Given the description of an element on the screen output the (x, y) to click on. 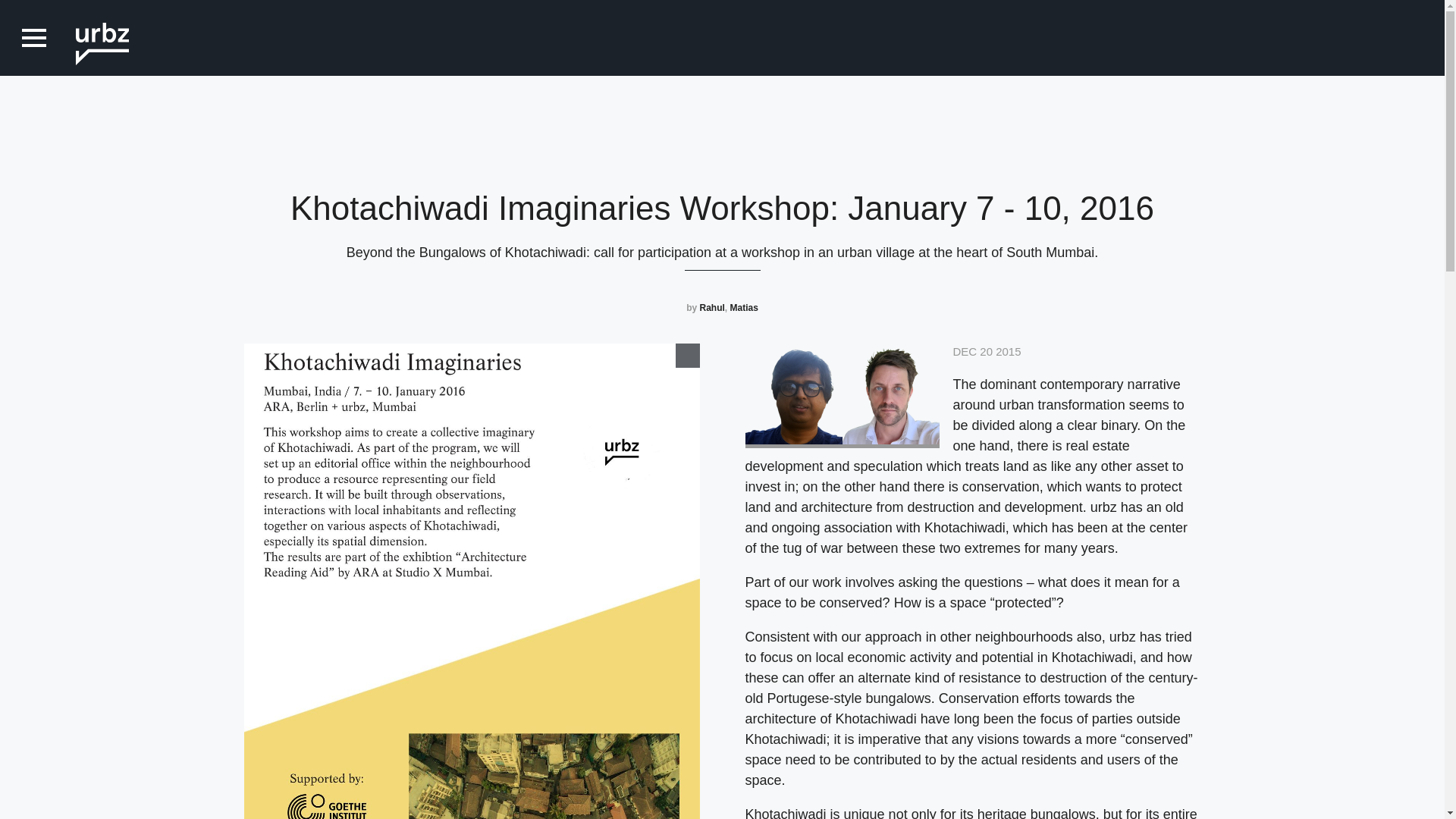
Rahul (710, 307)
Matias (743, 307)
Search (30, 23)
